Given the description of an element on the screen output the (x, y) to click on. 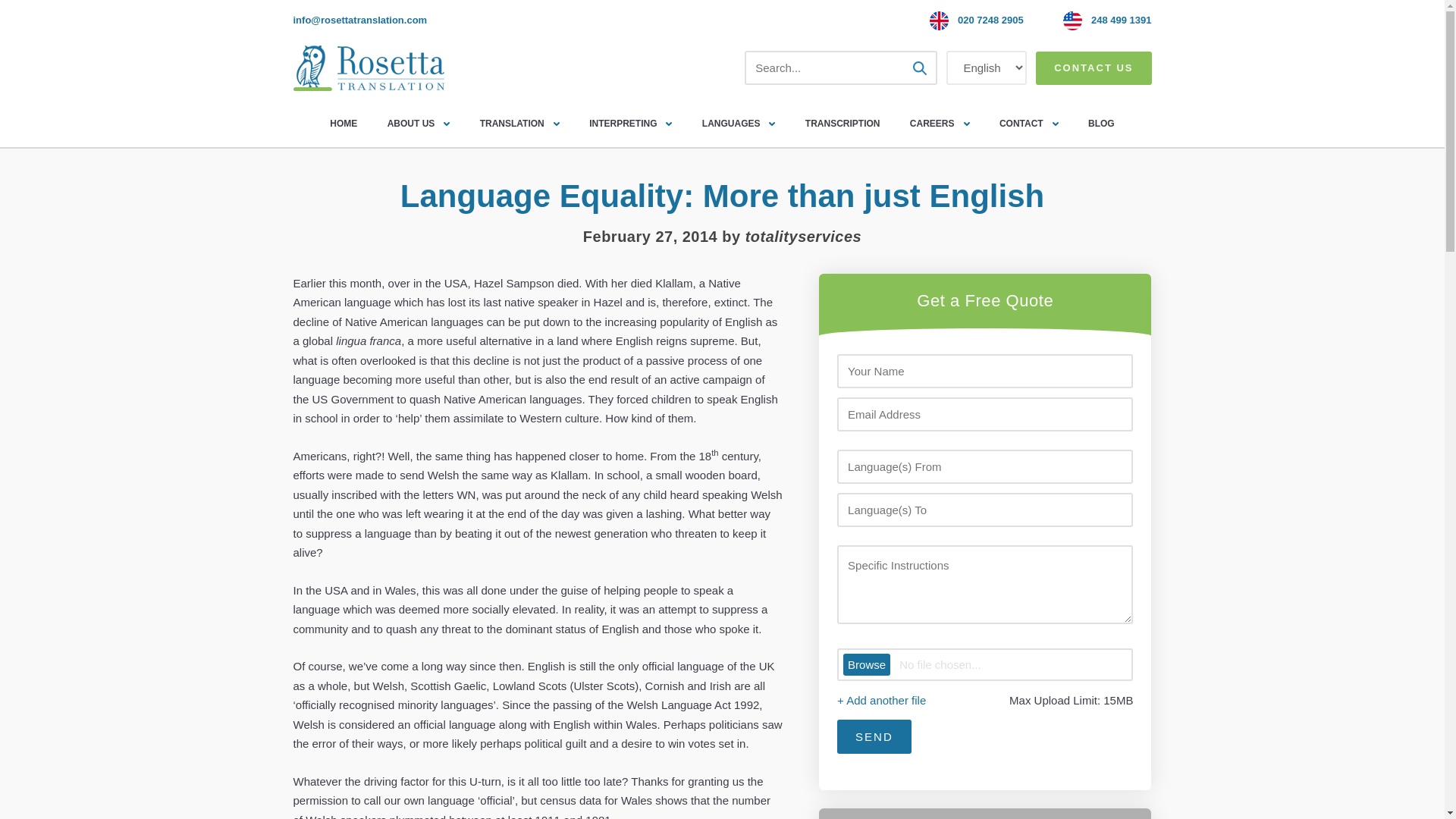
Send (874, 736)
INTERPRETING (630, 123)
CONTACT US (1093, 68)
TRANSLATION (519, 123)
020 7248 2905 (990, 19)
248 499 1391 (1120, 19)
ABOUT US (419, 123)
LANGUAGES (738, 123)
HOME (343, 123)
